Given the description of an element on the screen output the (x, y) to click on. 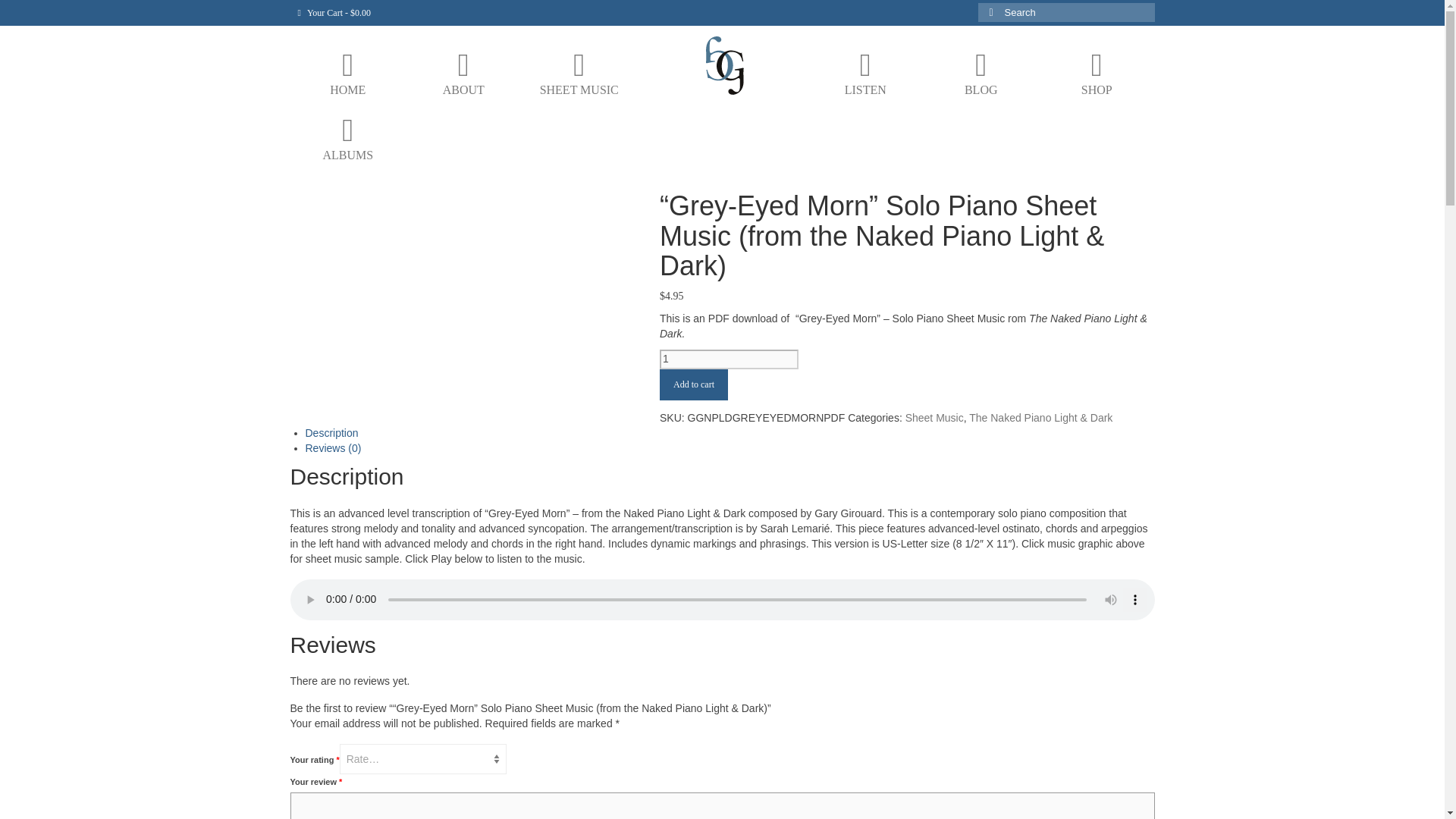
Sheet Music (934, 417)
SHEET MUSIC (578, 74)
1 (728, 359)
SHOP (1096, 74)
HOME (346, 74)
View your shopping cart (333, 12)
BLOG (980, 74)
Description (331, 432)
Add to cart (693, 384)
ABOUT (463, 74)
